Given the description of an element on the screen output the (x, y) to click on. 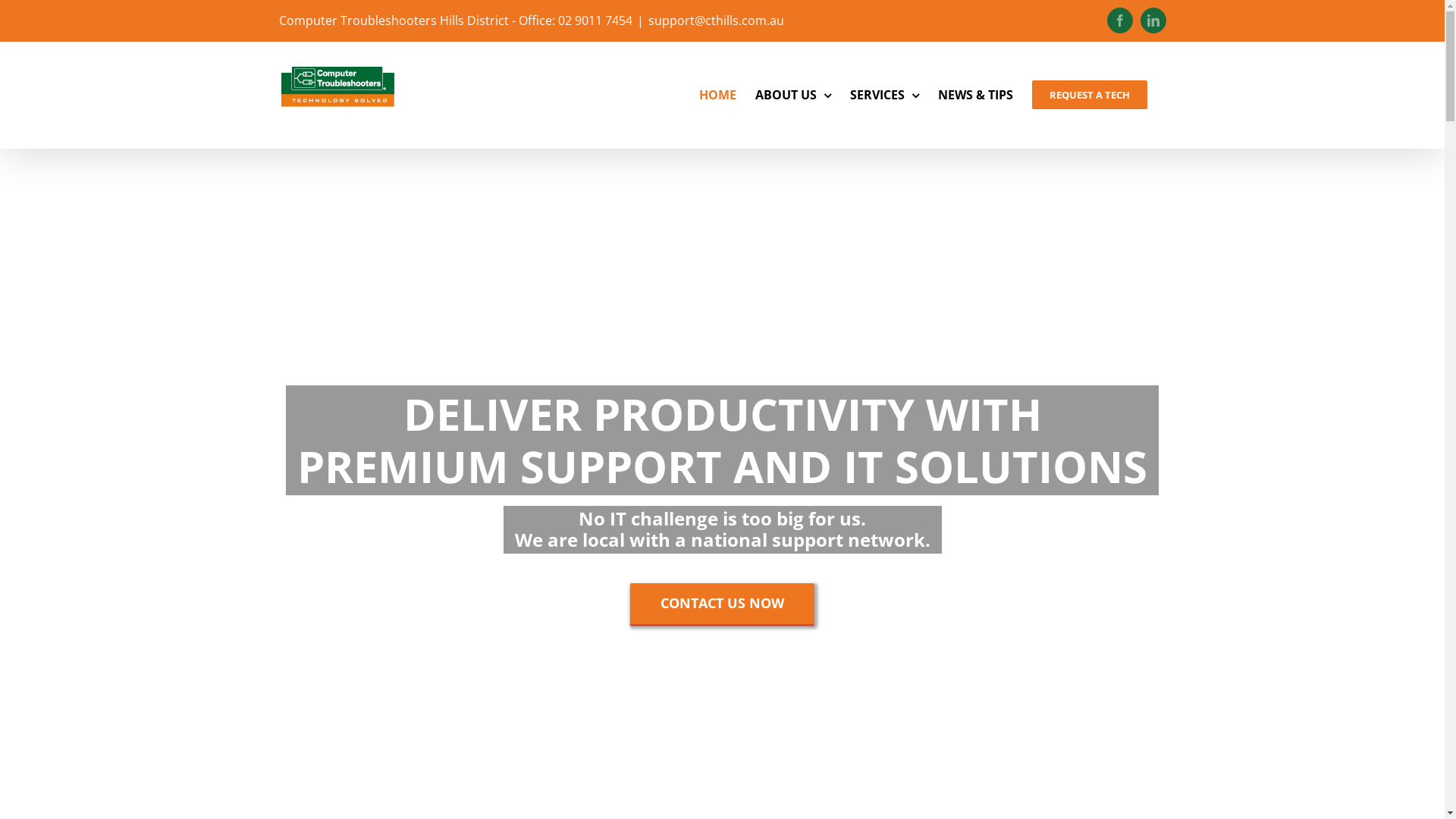
REQUEST A TECH Element type: text (1088, 94)
LinkedIn Element type: text (1153, 20)
CONTACT US NOW Element type: text (722, 603)
ABOUT US Element type: text (793, 94)
support@cthills.com.au Element type: text (715, 20)
SERVICES Element type: text (883, 94)
HOME Element type: text (717, 94)
Facebook Element type: text (1119, 20)
NEWS & TIPS Element type: text (974, 94)
